Given the description of an element on the screen output the (x, y) to click on. 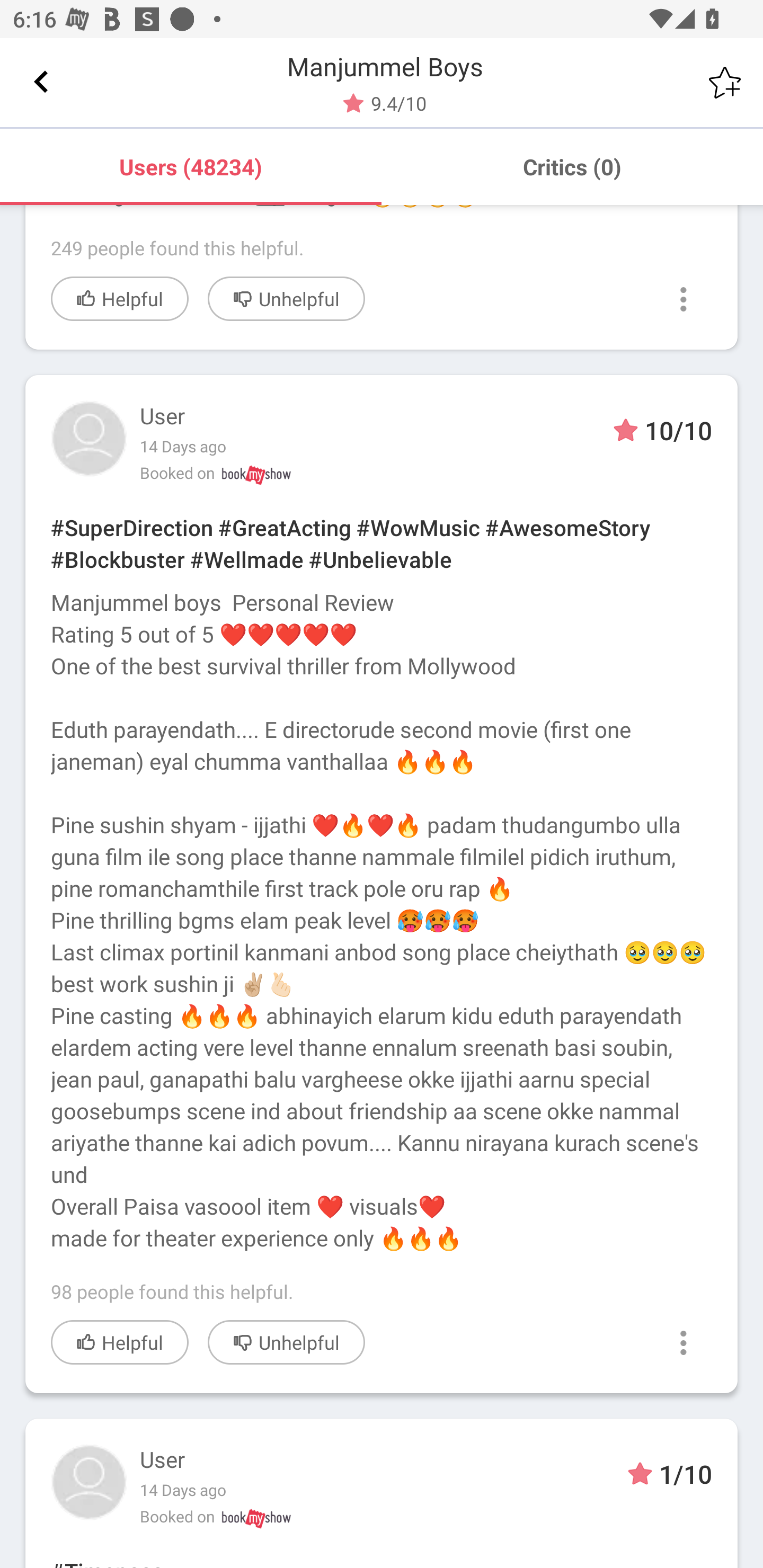
Back (41, 82)
Critics (0) (572, 166)
Helpful (119, 298)
Unhelpful (285, 298)
Helpful (119, 1342)
Unhelpful (285, 1342)
